Given the description of an element on the screen output the (x, y) to click on. 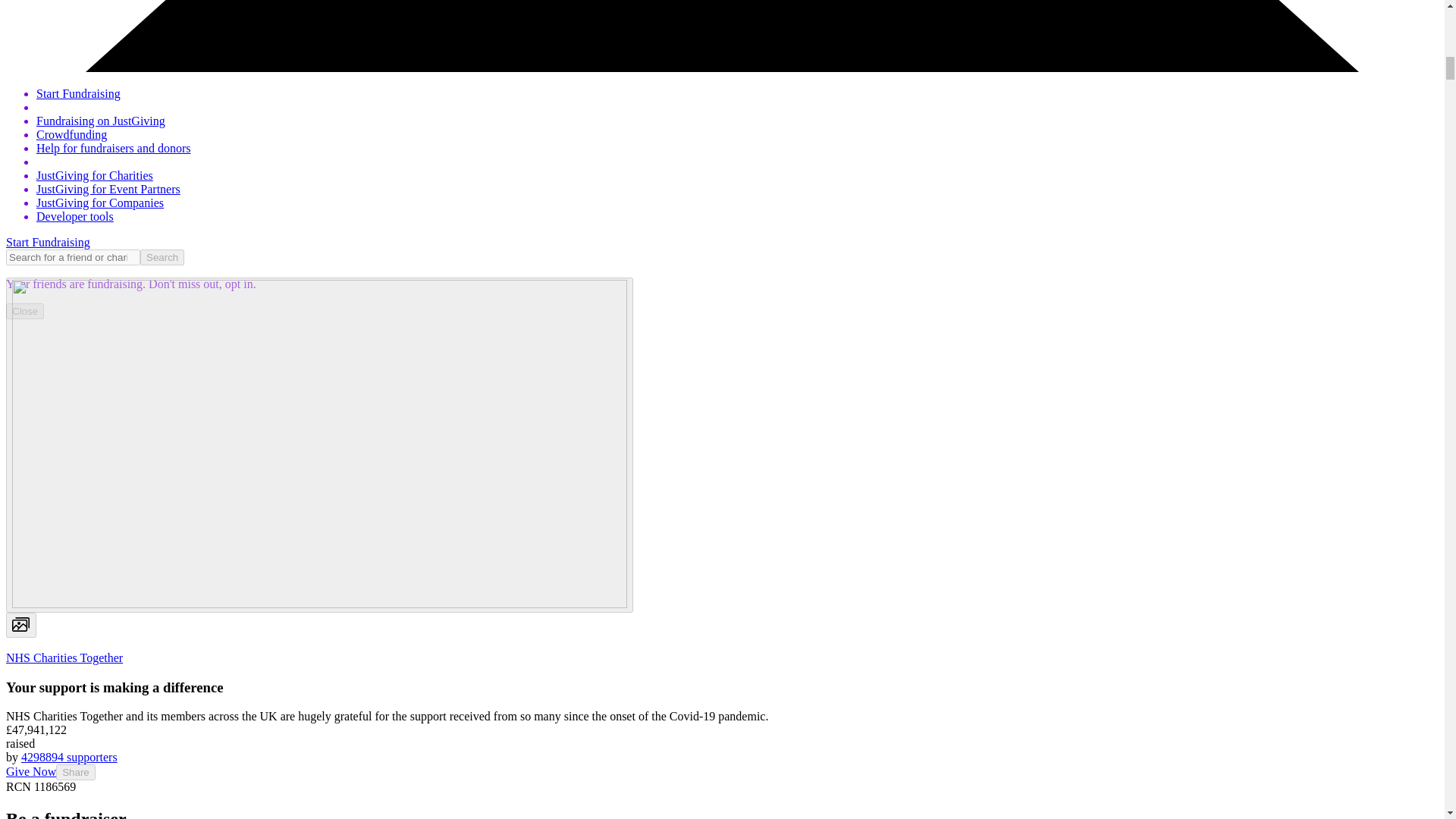
Search (161, 257)
NHS Charities Together (63, 657)
Start Fundraising (78, 92)
JustGiving for Charities (94, 174)
Search (161, 257)
Close (24, 311)
Start Fundraising (47, 241)
JustGiving for Companies (99, 202)
opt in. (239, 283)
JustGiving for Event Partners (108, 188)
